Given the description of an element on the screen output the (x, y) to click on. 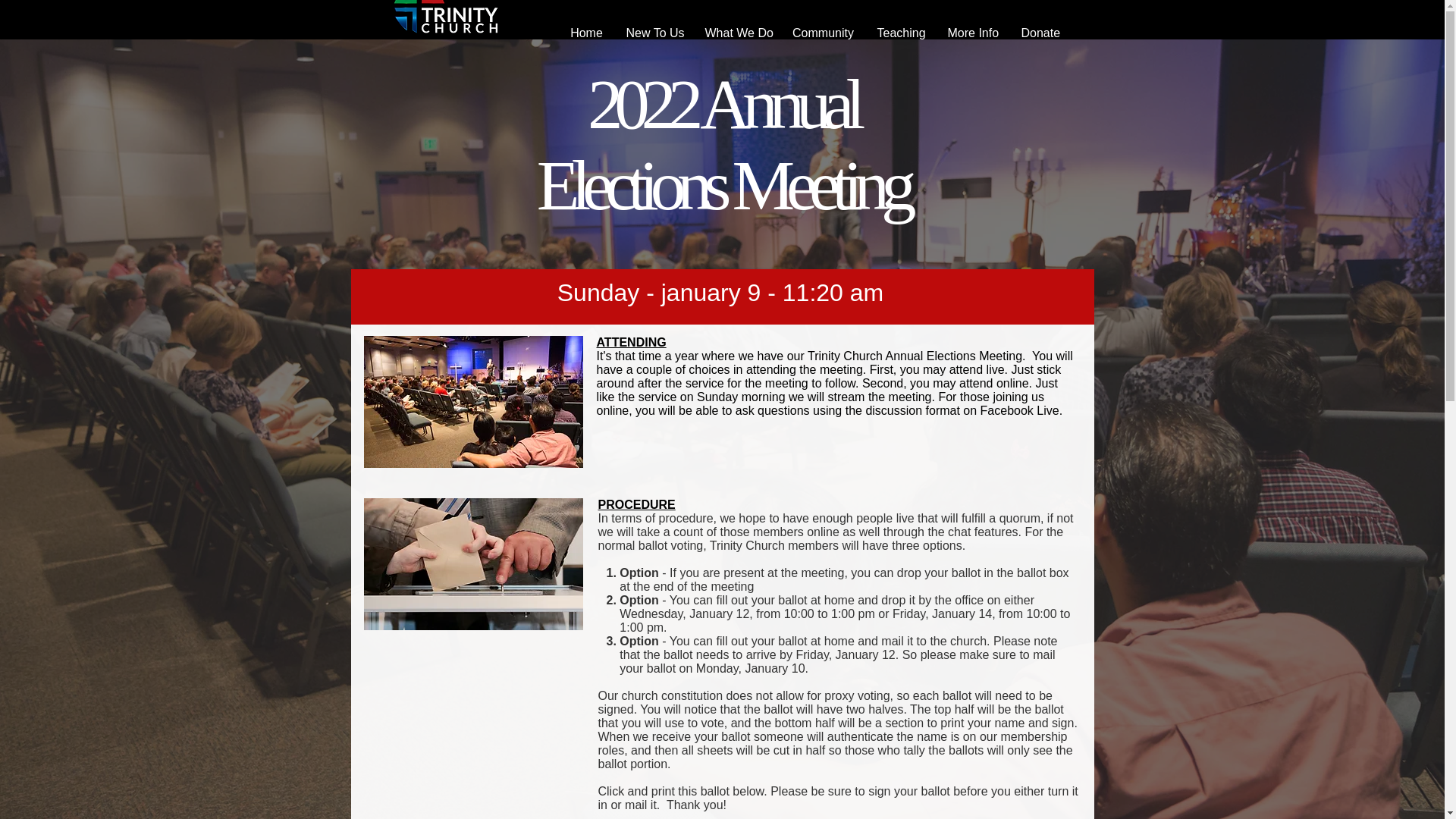
Donate (1040, 32)
New To Us (653, 32)
What We Do (736, 32)
Community (823, 32)
Home (585, 32)
